Given the description of an element on the screen output the (x, y) to click on. 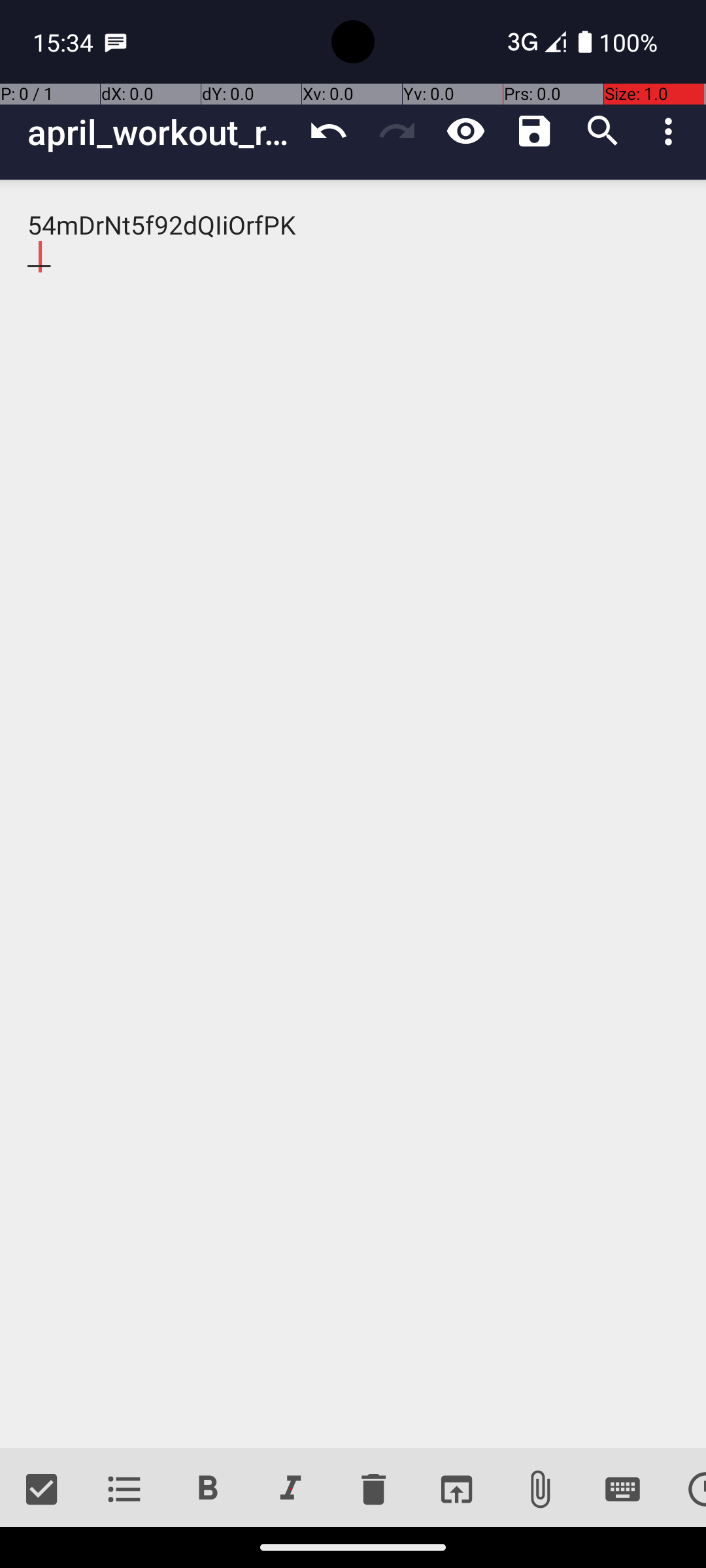
april_workout_routine_2023_02_19 Element type: android.widget.TextView (160, 131)
54mDrNt5f92dQIiOrfPK
__ Element type: android.widget.EditText (353, 813)
